Given the description of an element on the screen output the (x, y) to click on. 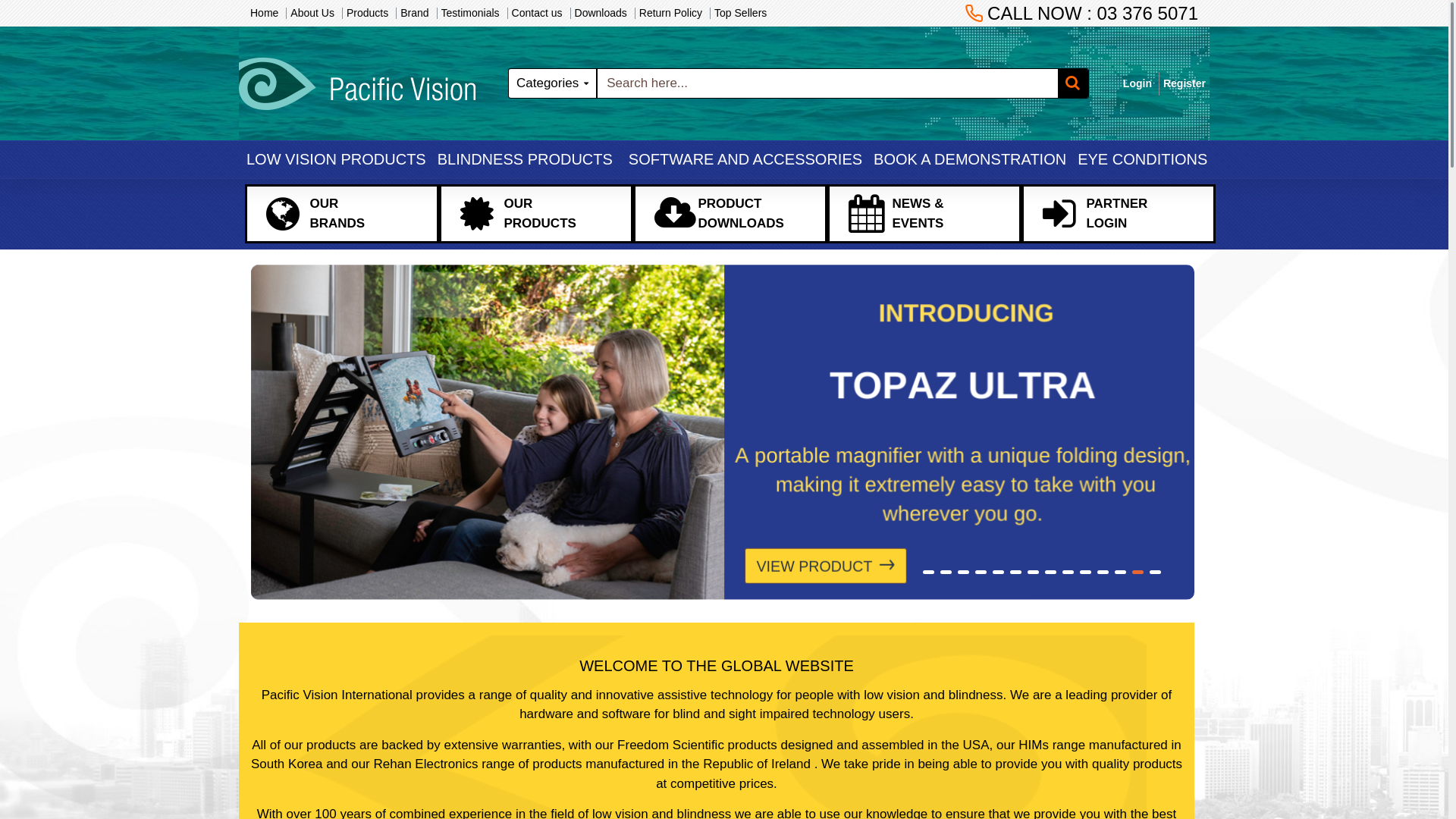
OUR
PRODUCTS Element type: text (536, 213)
SOFTWARE AND ACCESSORIES Element type: text (741, 159)
Contact us Element type: text (536, 12)
Testimonials Element type: text (469, 12)
BLINDNESS PRODUCTS Element type: text (522, 159)
OUR
BRANDS Element type: text (341, 213)
PARTNER
LOGIN Element type: text (1118, 213)
Brand Element type: text (413, 12)
Pacific Vision global Site Element type: hover (356, 82)
LOW VISION PRODUCTS Element type: text (333, 159)
Top Sellers Element type: text (739, 12)
Login Element type: text (1137, 82)
BOOK A DEMONSTRATION Element type: text (968, 159)
EYE CONDITIONS Element type: text (1140, 159)
Home Element type: text (264, 12)
Products Element type: text (367, 12)
About Us Element type: text (311, 12)
Register Element type: text (1183, 82)
Return Policy Element type: text (670, 12)
Downloads Element type: text (600, 12)
PRODUCT
DOWNLOADS Element type: text (730, 213)
NEWS &
EVENTS Element type: text (924, 213)
VIEW PRODUCT Element type: text (837, 565)
